Given the description of an element on the screen output the (x, y) to click on. 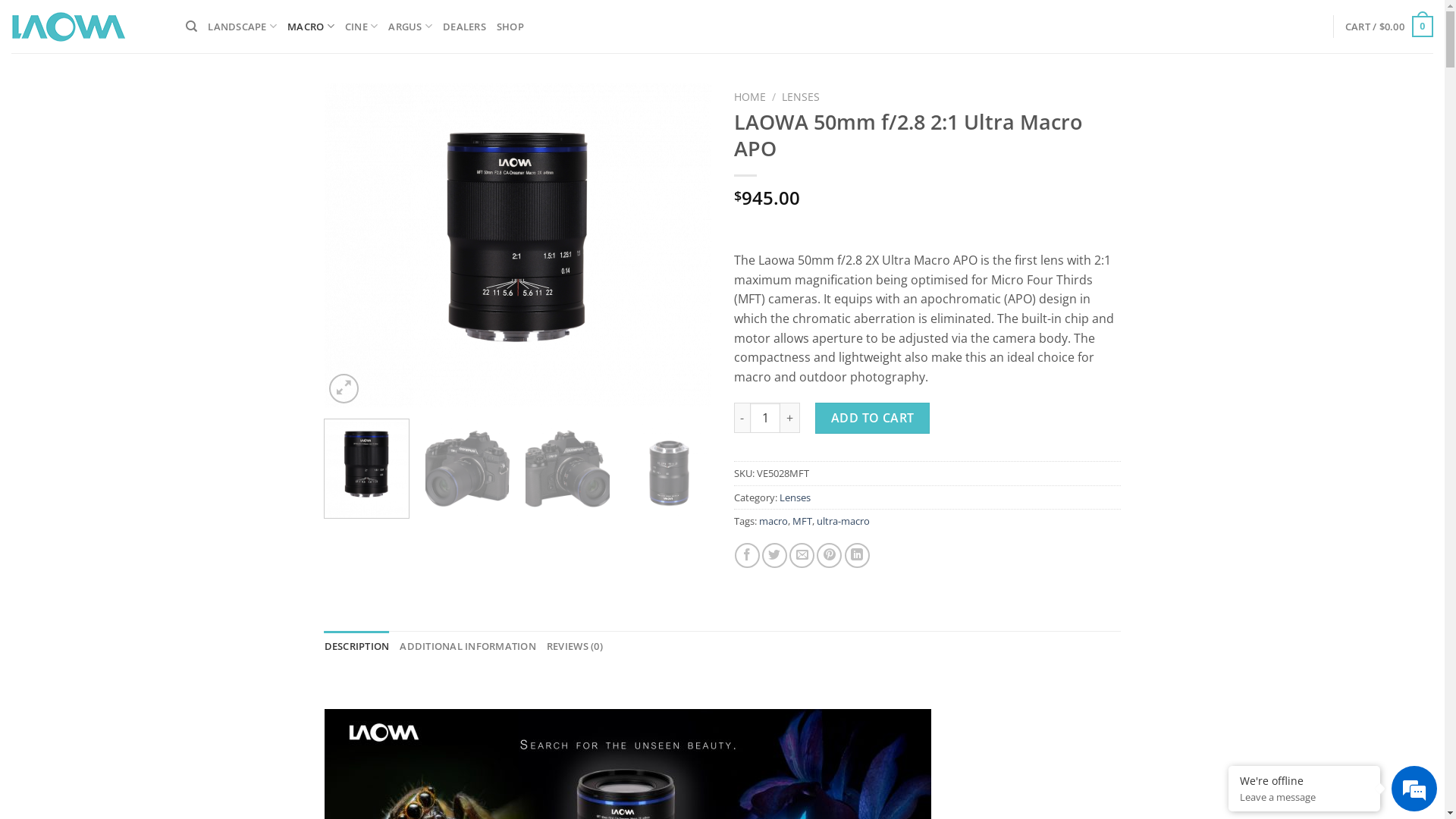
SHOP Element type: text (510, 26)
CINE Element type: text (361, 25)
Email to a Friend Element type: hover (801, 554)
_U8A0035 Element type: hover (517, 245)
LENSES Element type: text (800, 96)
DEALERS Element type: text (464, 26)
MFT Element type: text (801, 520)
LANDSCAPE Element type: text (241, 25)
Qty Element type: hover (764, 417)
MACRO Element type: text (310, 25)
Share on Twitter Element type: hover (774, 554)
Share on LinkedIn Element type: hover (856, 554)
ARGUS Element type: text (410, 25)
Lenses Element type: text (794, 497)
REVIEWS (0) Element type: text (574, 645)
macro Element type: text (772, 520)
HOME Element type: text (749, 96)
Zoom Element type: hover (343, 388)
ADDITIONAL INFORMATION Element type: text (467, 645)
Pin on Pinterest Element type: hover (828, 554)
ultra-macro Element type: text (842, 520)
CART / $0.00
0 Element type: text (1389, 26)
ADD TO CART Element type: text (872, 417)
DESCRIPTION Element type: text (356, 645)
Share on Facebook Element type: hover (746, 554)
